Given the description of an element on the screen output the (x, y) to click on. 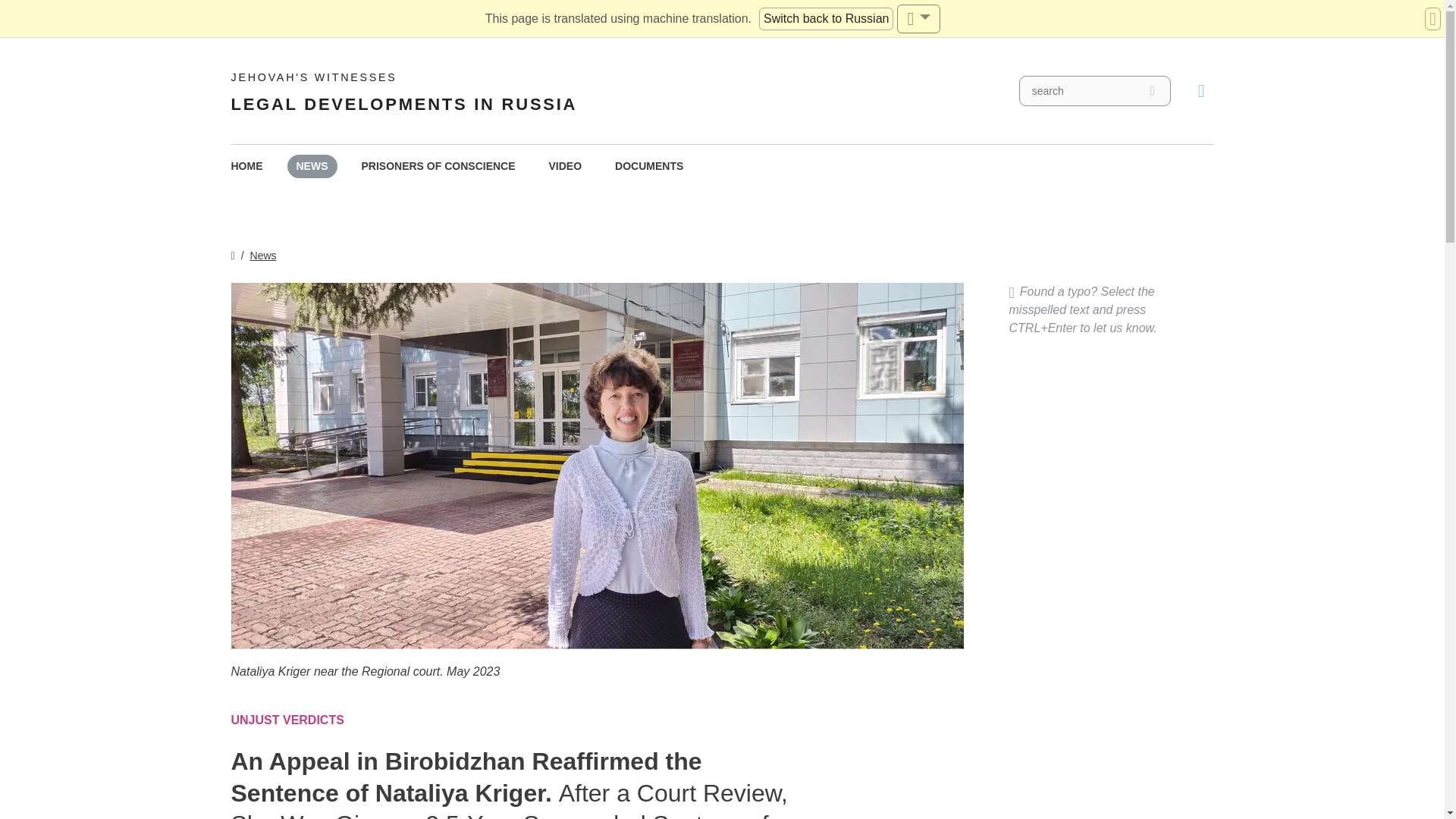
HOME (245, 166)
News (263, 255)
NEWS (403, 90)
DOCUMENTS (311, 166)
Switch back to Russian (649, 166)
VIDEO (825, 18)
PRISONERS OF CONSCIENCE (565, 166)
